Given the description of an element on the screen output the (x, y) to click on. 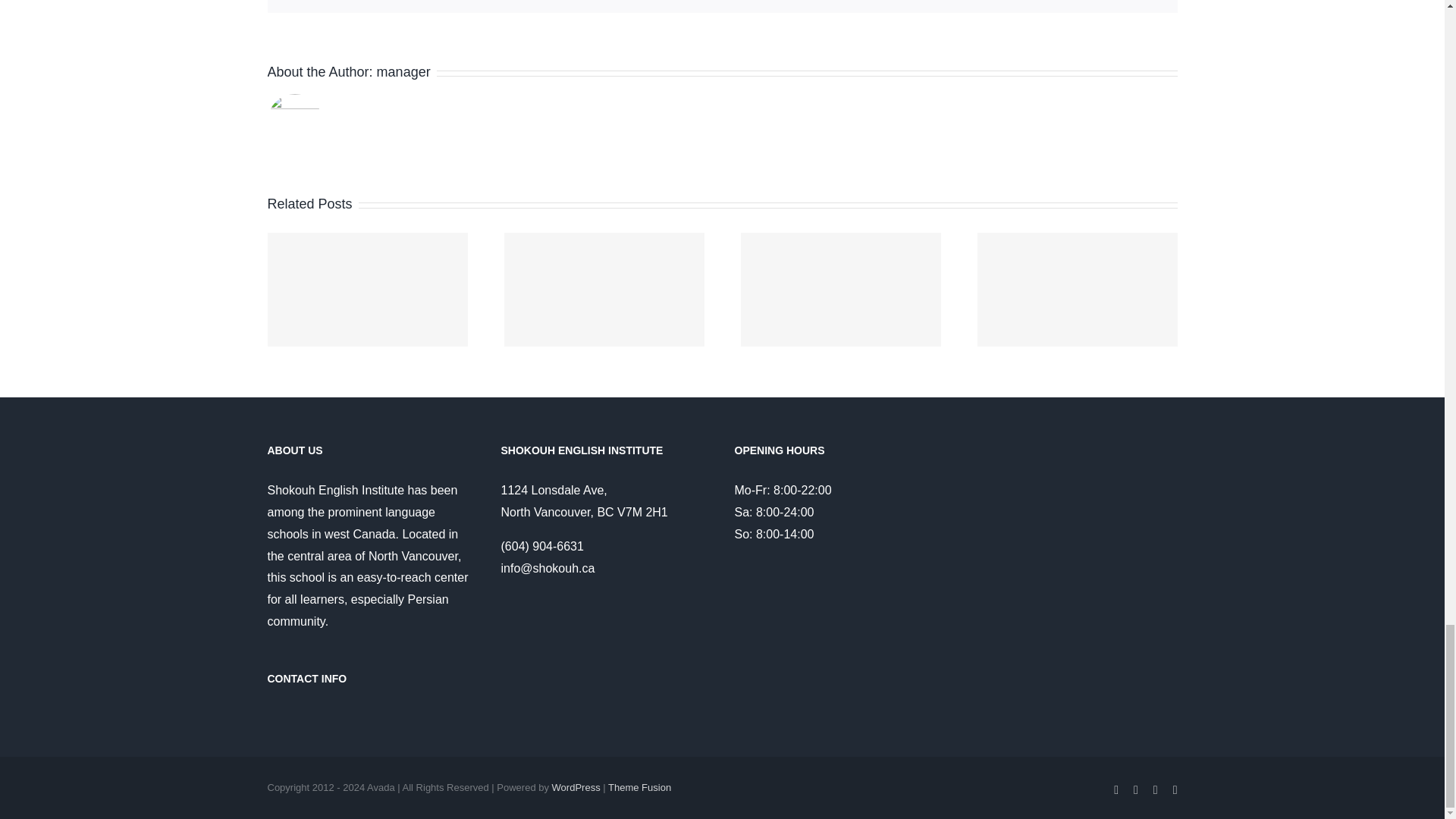
Posts by manager (403, 71)
